Given the description of an element on the screen output the (x, y) to click on. 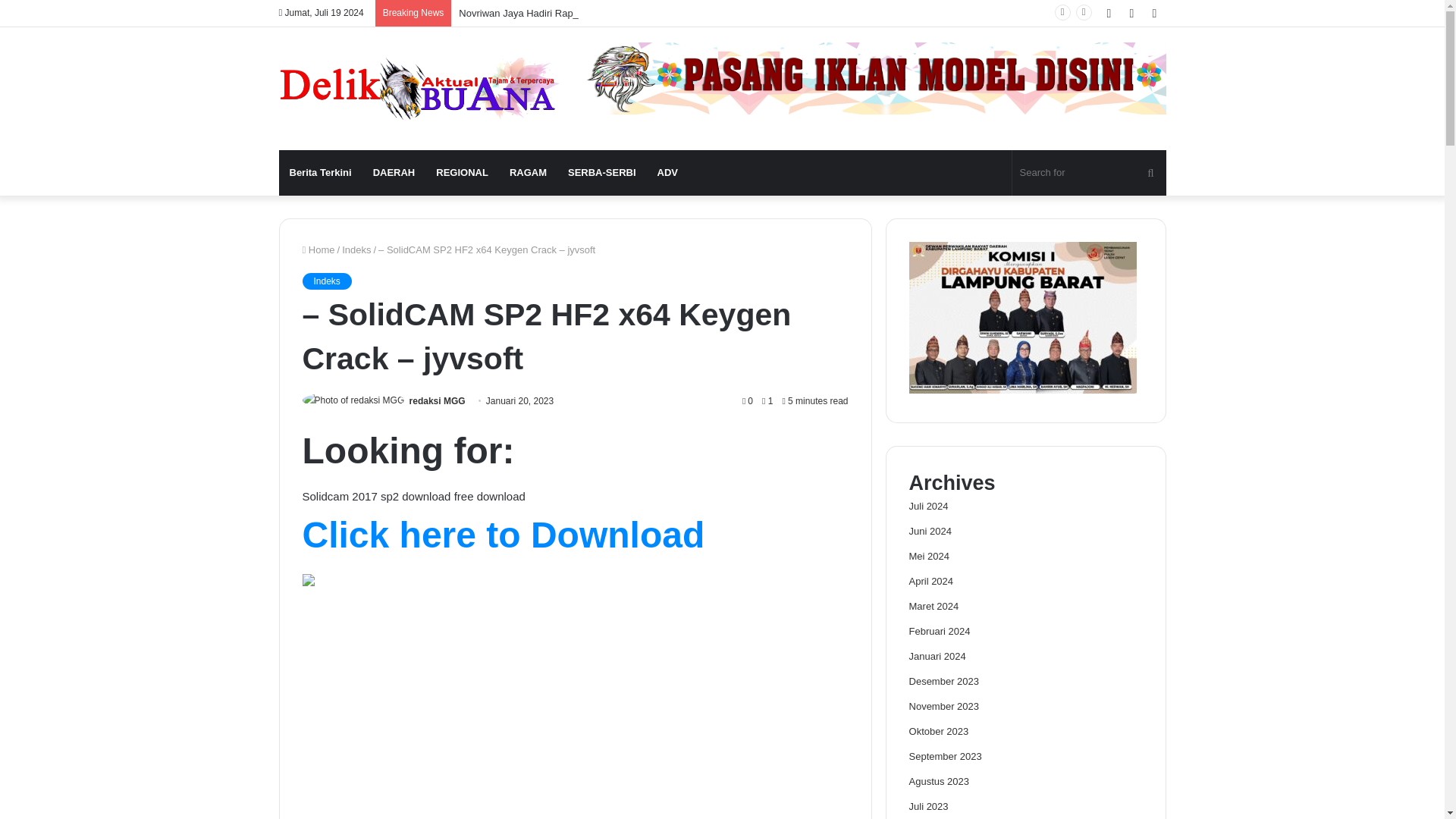
Random Article (1131, 13)
Log In (1109, 13)
REGIONAL (462, 172)
Random Article (1131, 13)
DAERAH (394, 172)
Indeks (325, 280)
RAGAM (528, 172)
Delik Buana (419, 88)
Home (317, 249)
ADV (667, 172)
redaksi MGG (437, 400)
Click here to Download (502, 543)
Berita Terkini (320, 172)
Search for (1088, 172)
SERBA-SERBI (601, 172)
